Given the description of an element on the screen output the (x, y) to click on. 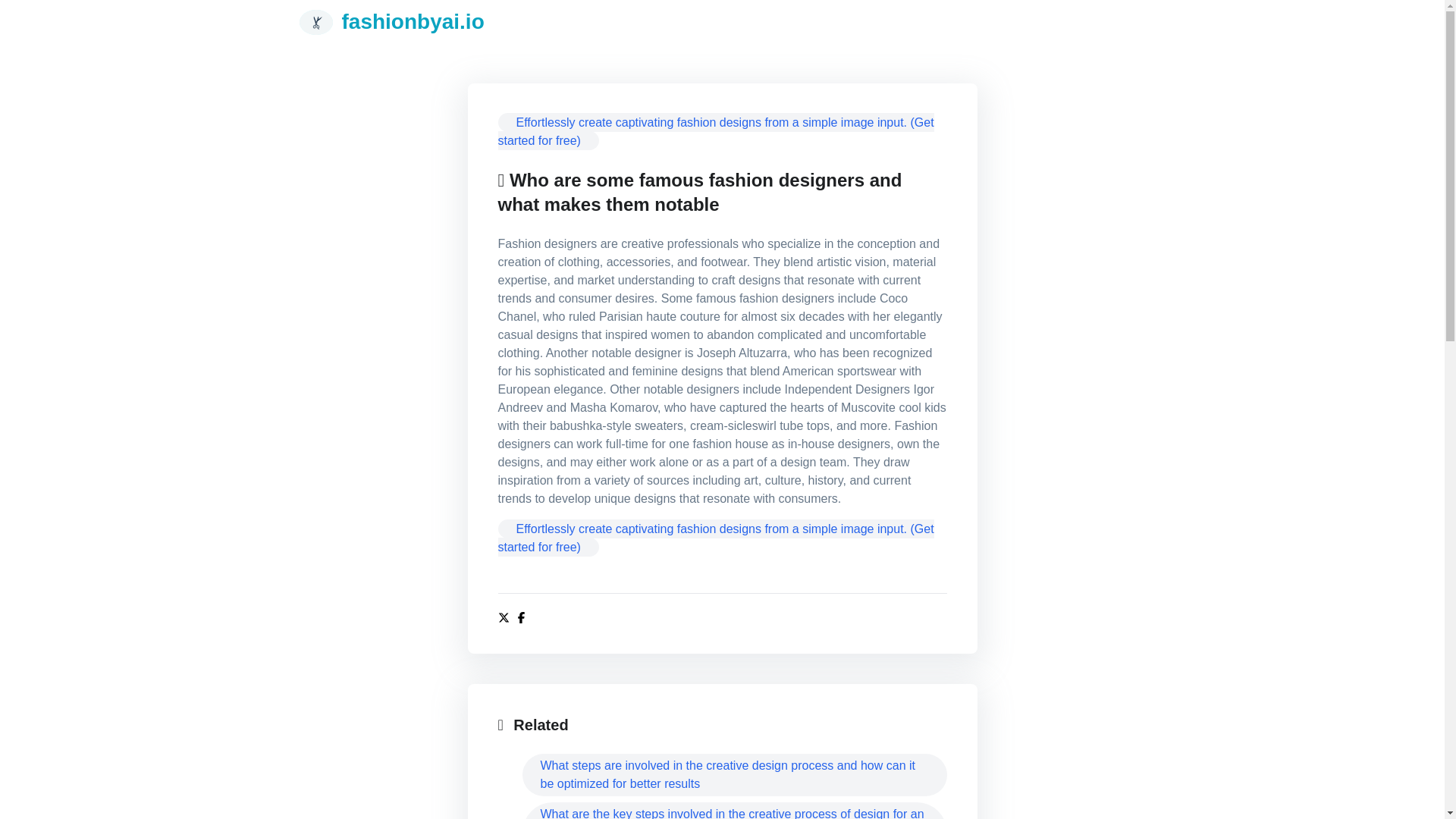
fashionbyai.io (390, 21)
